Given the description of an element on the screen output the (x, y) to click on. 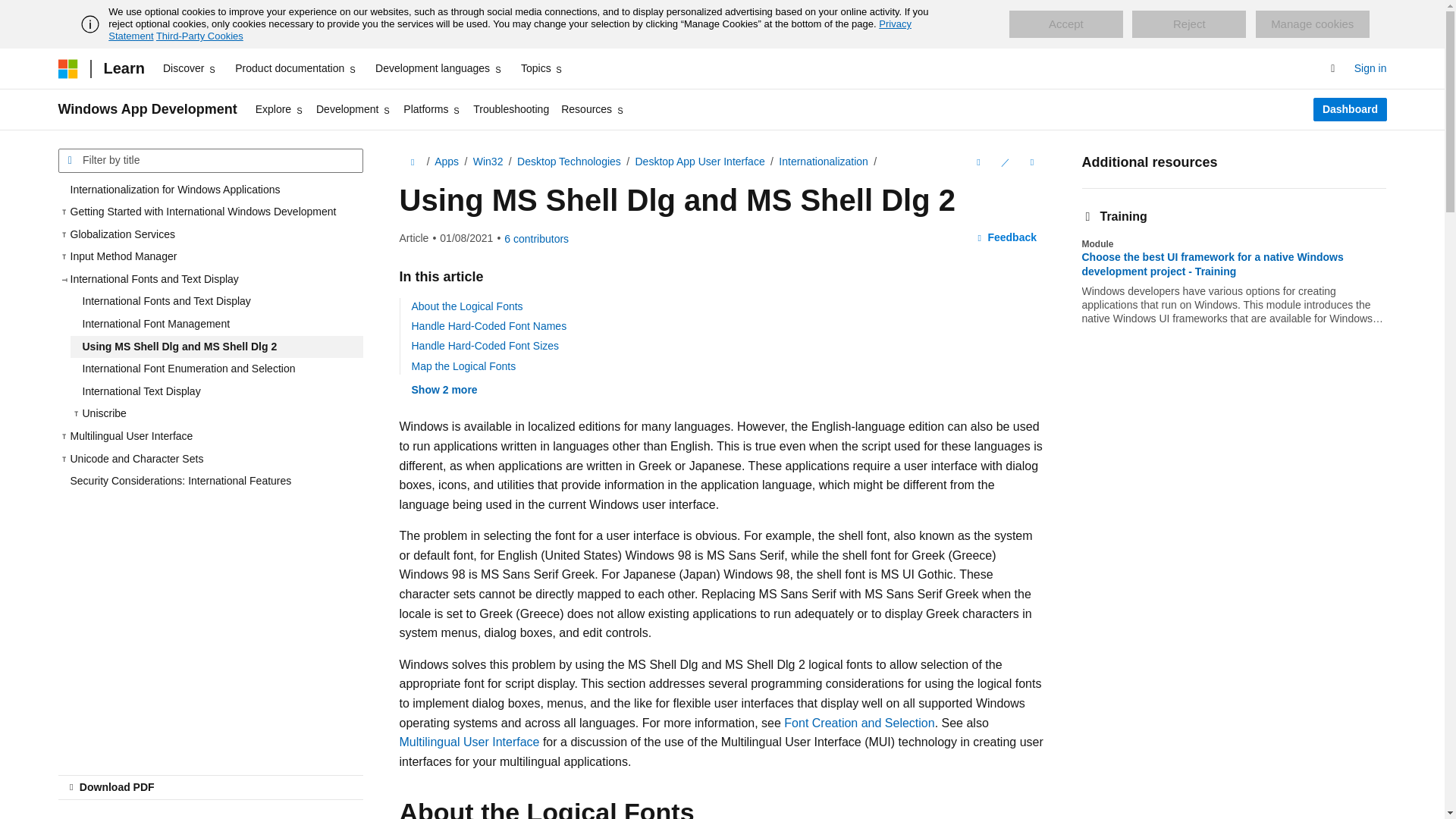
Windows App Development (146, 109)
Sign in (1370, 68)
Platforms (432, 109)
Topics (542, 68)
View all contributors (536, 238)
Edit This Document (1004, 161)
Manage cookies (1312, 23)
More actions (1031, 161)
Explore (279, 109)
Development (353, 109)
Privacy Statement (509, 29)
Third-Party Cookies (199, 35)
Discover (189, 68)
Accept (1065, 23)
